Given the description of an element on the screen output the (x, y) to click on. 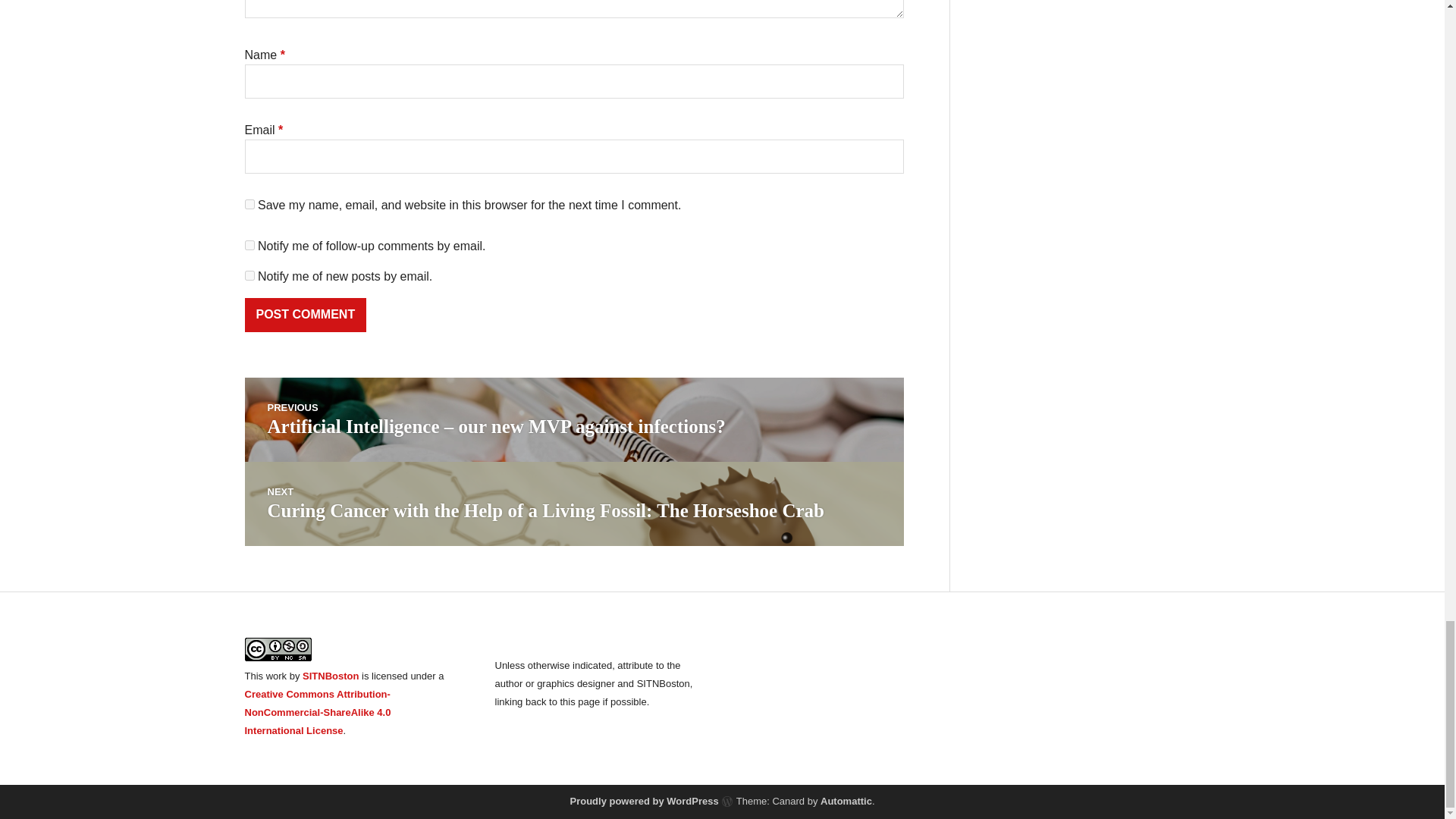
Post Comment (305, 315)
subscribe (248, 245)
subscribe (248, 275)
yes (248, 204)
